Given the description of an element on the screen output the (x, y) to click on. 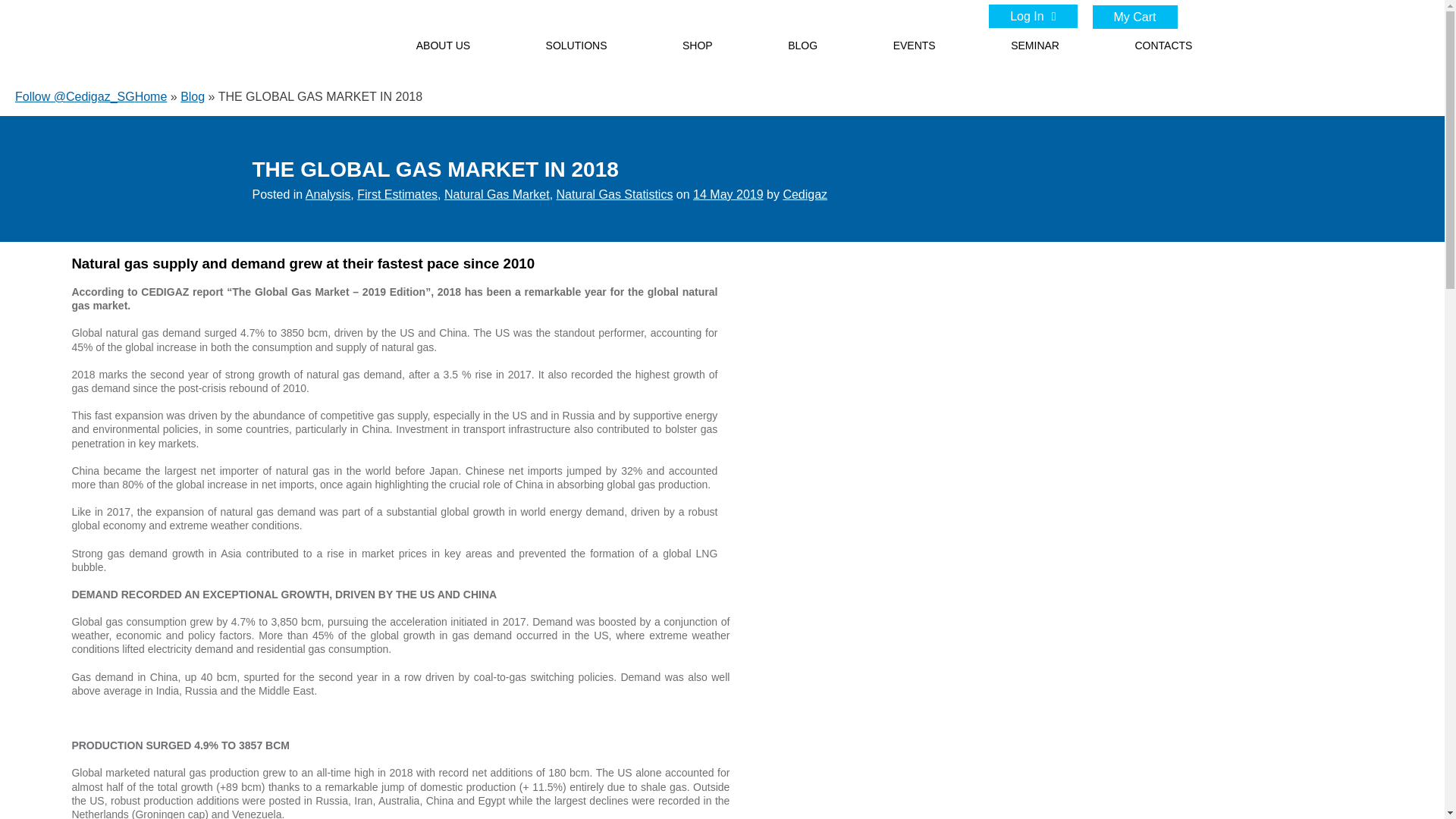
SOLUTIONS (576, 45)
Cedigaz (805, 194)
First Estimates (397, 194)
My Cart (1134, 16)
SEMINAR (1034, 45)
BLOG (801, 45)
Natural Gas Statistics (614, 194)
14 May 2019 (727, 194)
Blog (192, 96)
ABOUT US (443, 45)
